Given the description of an element on the screen output the (x, y) to click on. 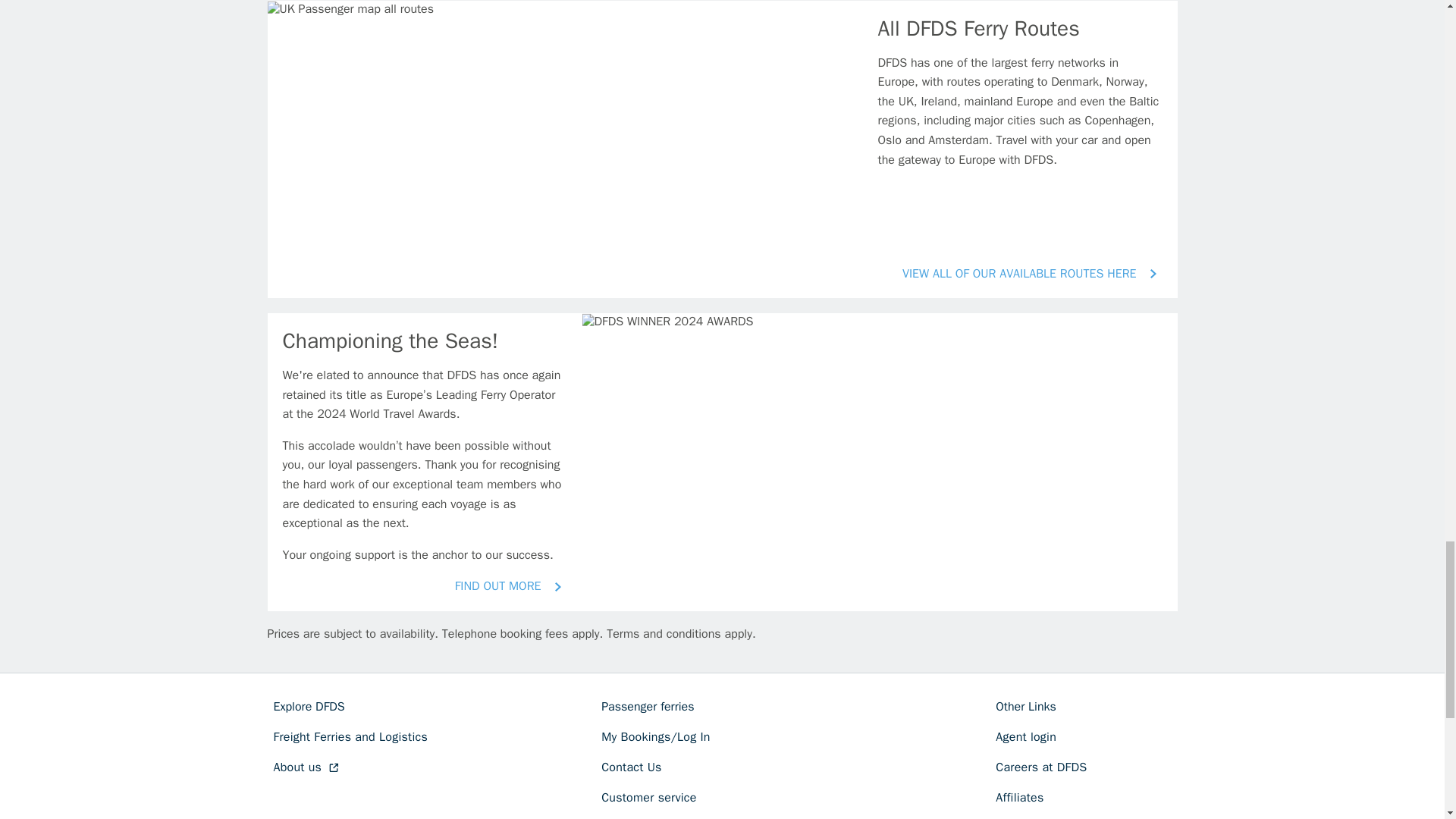
UK Passenger map all routes (349, 8)
DFDS WINNER 2024 AWARDS (666, 321)
